Given the description of an element on the screen output the (x, y) to click on. 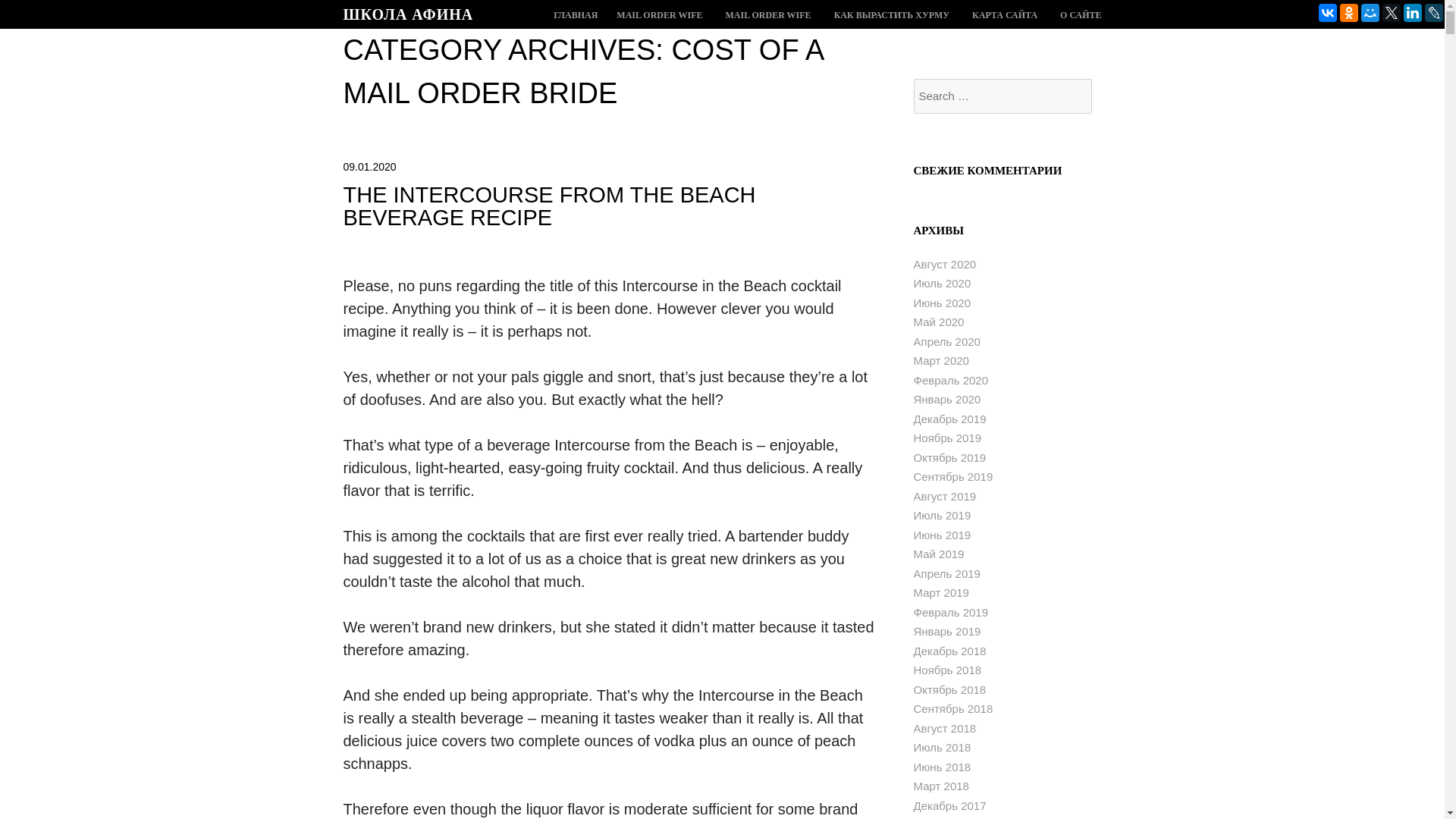
Skip to content (575, 14)
SKIP TO CONTENT (575, 14)
LiveJournal (1433, 13)
Twitter (1390, 13)
MAIL ORDER WIFE (767, 14)
LinkedIn (1412, 13)
09.01.2020 (369, 166)
19:07 (369, 166)
Search (46, 9)
THE INTERCOURSE FROM THE BEACH BEVERAGE RECIPE (548, 206)
MAIL ORDER WIFE (658, 14)
